Given the description of an element on the screen output the (x, y) to click on. 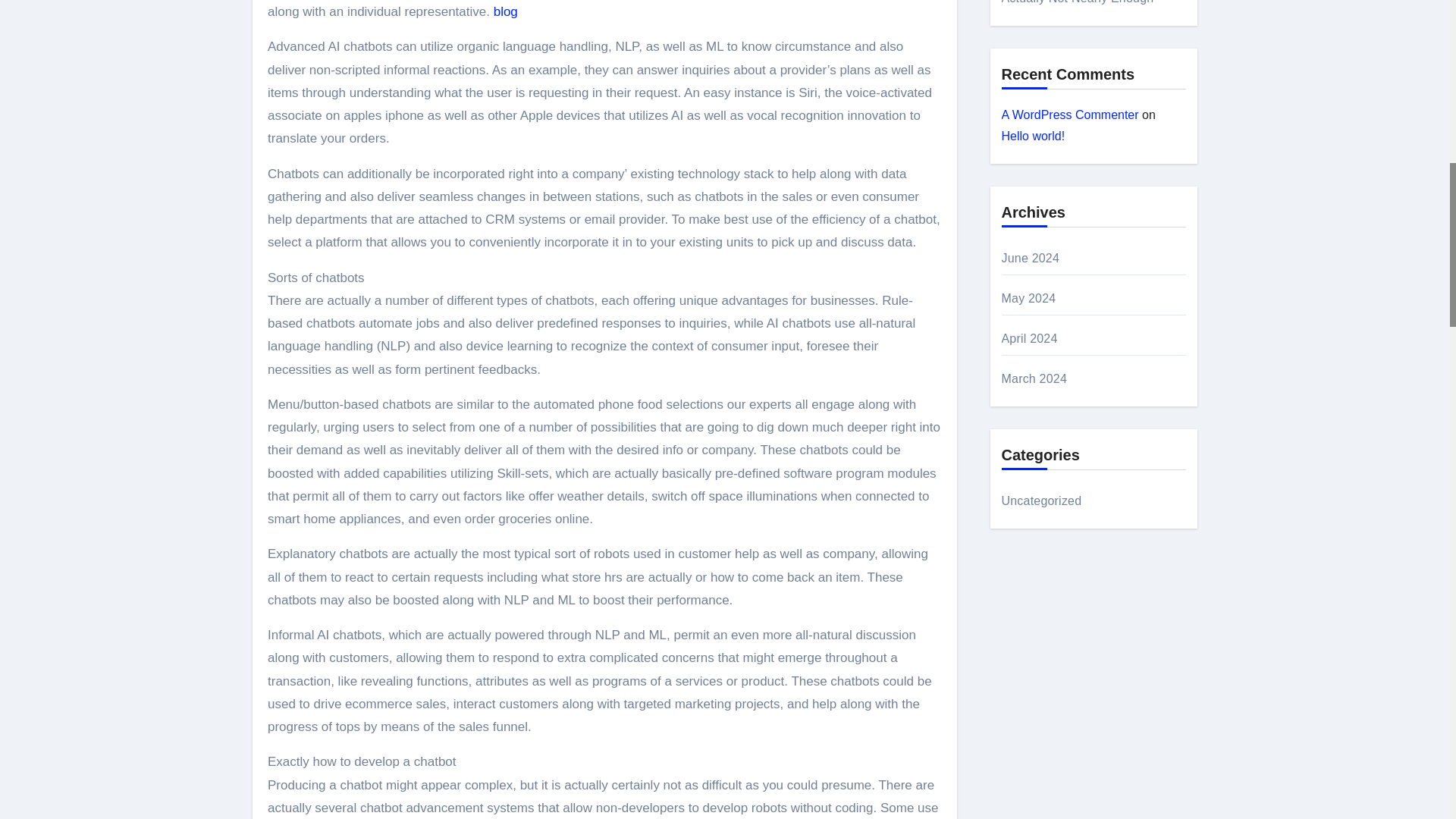
blog (505, 11)
